Given the description of an element on the screen output the (x, y) to click on. 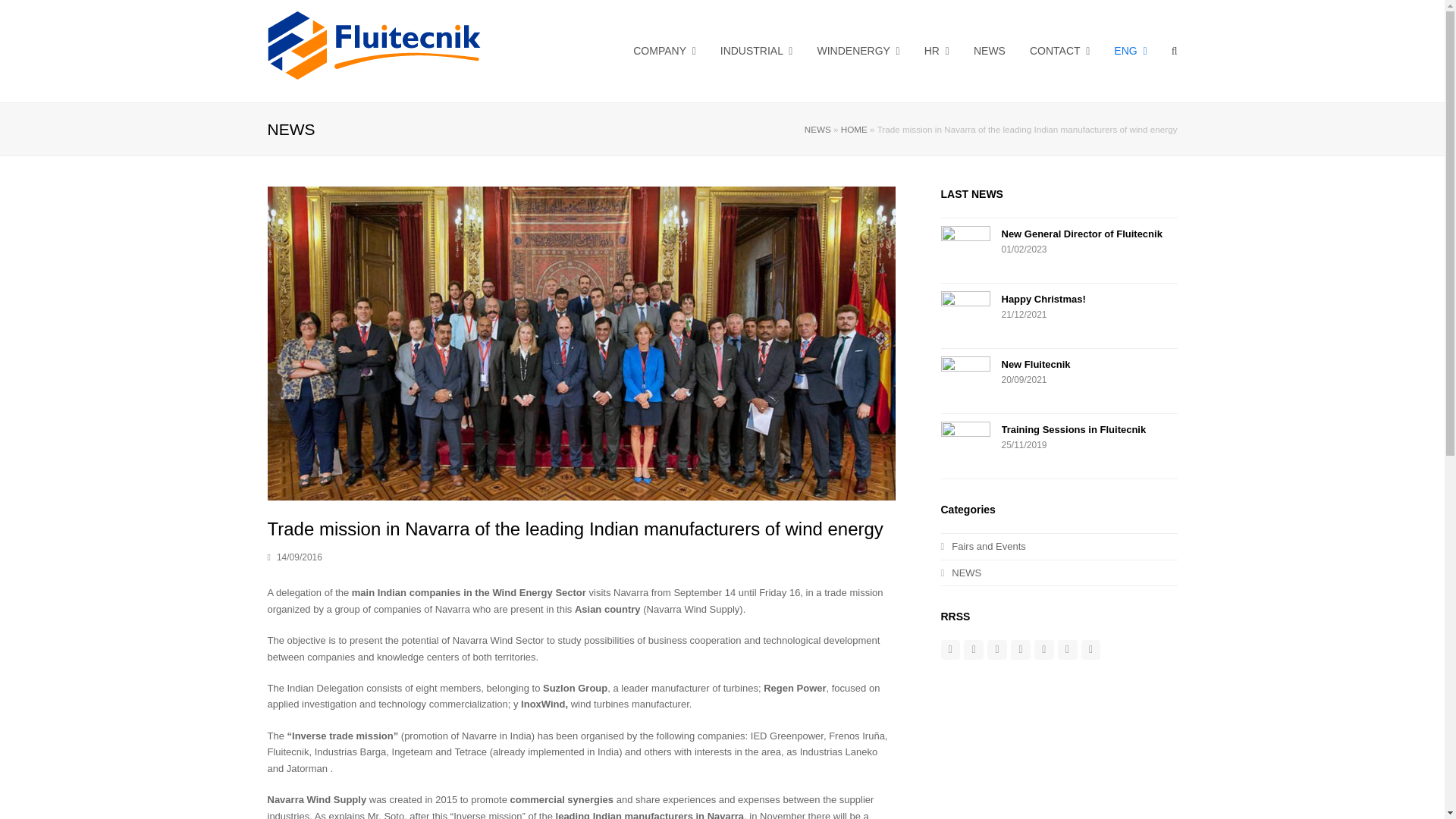
Vimeo (1067, 649)
Training Sessions in Fluitecnik (965, 445)
Instagram (997, 649)
COMPANY (664, 50)
Youtube (1090, 649)
HR (936, 50)
Happy Christmas! (965, 315)
WINDENERGY (858, 50)
CONTACT (1058, 50)
Pinterest (1043, 649)
